Given the description of an element on the screen output the (x, y) to click on. 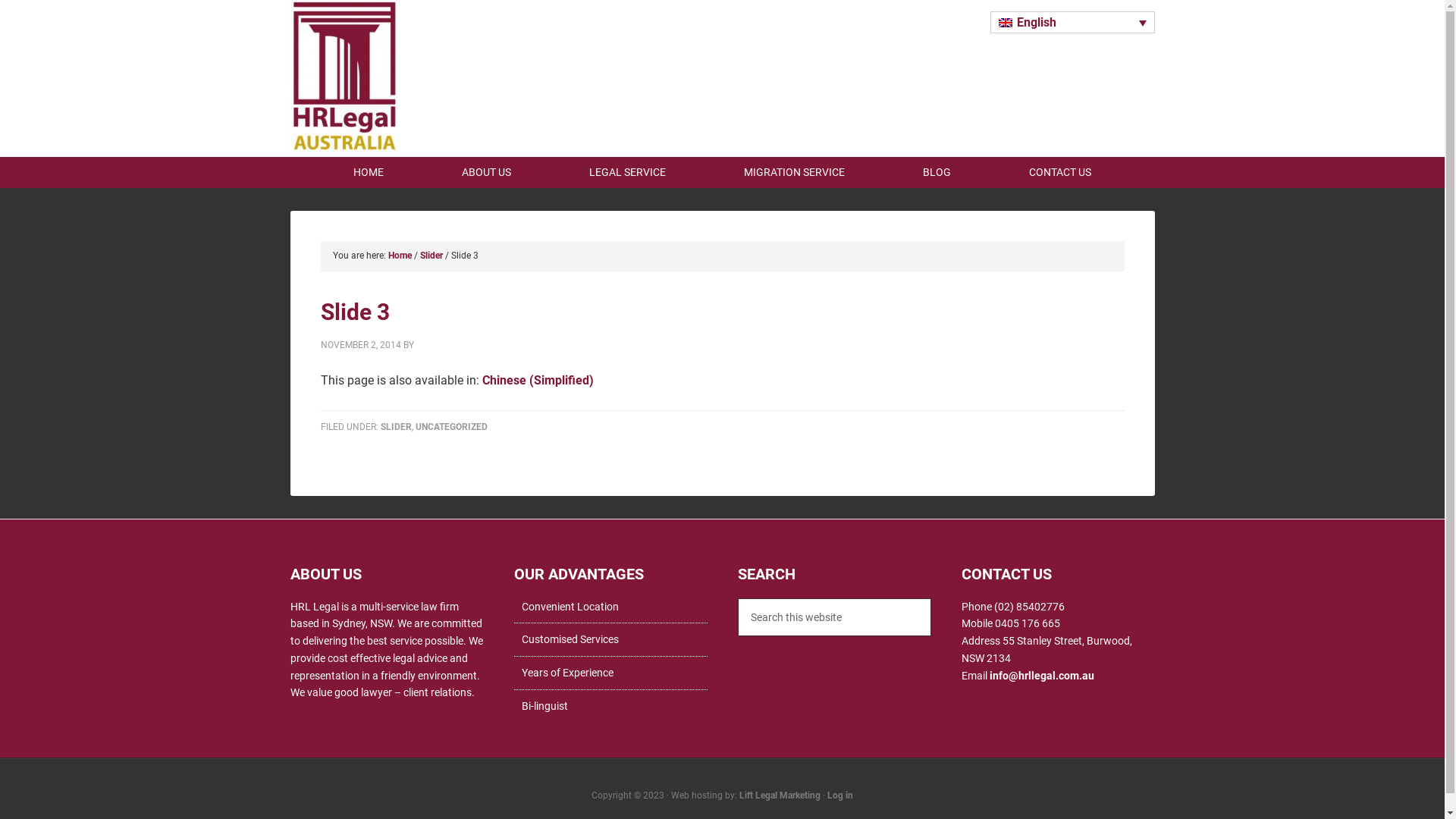
Log in Element type: text (840, 795)
Search Element type: text (929, 597)
SLIDER Element type: text (395, 426)
Slider Element type: text (431, 255)
HRL Legal Pty Ltd Element type: hover (343, 140)
BLOG Element type: text (936, 172)
Home Element type: text (399, 255)
English Element type: text (1072, 22)
MIGRATION SERVICE Element type: text (794, 172)
Lift Legal Marketing Element type: text (779, 795)
ABOUT US Element type: text (486, 172)
CONTACT US Element type: text (1060, 172)
UNCATEGORIZED Element type: text (451, 426)
LEGAL SERVICE Element type: text (627, 172)
HOME Element type: text (368, 172)
Chinese (Simplified) Element type: text (537, 380)
 info@hrllegal.com.au Element type: text (1040, 674)
